Given the description of an element on the screen output the (x, y) to click on. 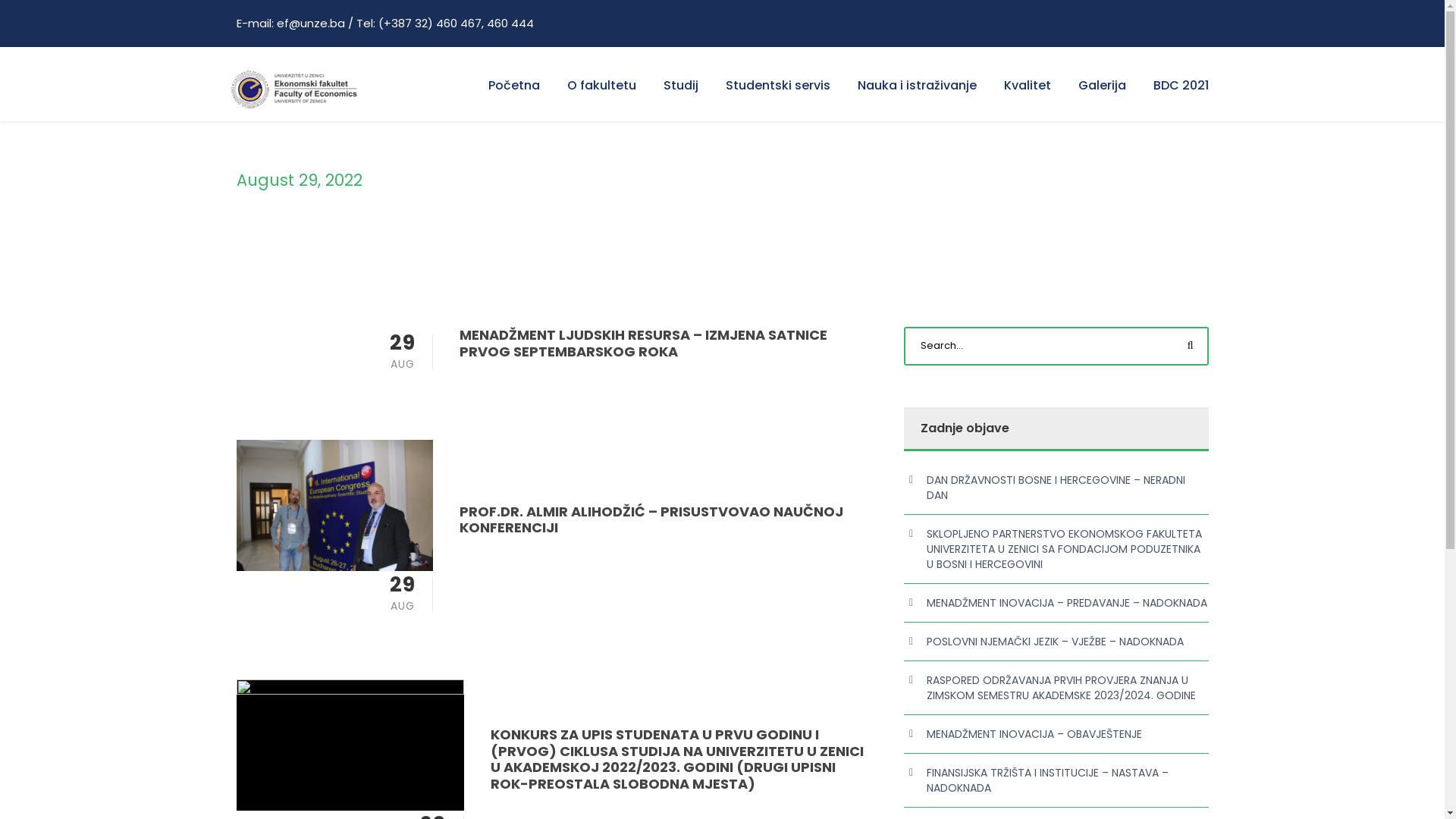
Asocijacija studenata Element type: text (1050, 607)
Studentski servis Element type: text (776, 97)
Galerija Element type: text (1102, 97)
Sport na ekonomiji Element type: text (1042, 634)
Studij Element type: text (679, 97)
facebook Element type: hover (1185, 781)
Prvi ciklus Element type: text (765, 527)
O fakultetu Element type: text (601, 97)
vazno je Element type: hover (350, 744)
E-mail: rektorat@unze.ba Element type: text (307, 657)
O nama Element type: text (510, 527)
instagram Element type: hover (1205, 781)
novi logo pocetna Element type: hover (295, 88)
BDC 2021 Element type: text (1180, 97)
Kvalitet Element type: text (1027, 97)
konferencija Element type: hover (334, 505)
Normativni dokumenti Element type: text (552, 634)
Nastavni kadar Element type: text (531, 580)
Biblioteka Element type: text (1016, 580)
Katedre Element type: text (510, 607)
Search Element type: text (1188, 345)
Pravila studiranja Element type: text (787, 607)
ef@unze.ba Element type: text (310, 23)
E-mail: ef@unze.ba Element type: text (290, 630)
Drugi ciklus Element type: text (770, 553)
